Given the description of an element on the screen output the (x, y) to click on. 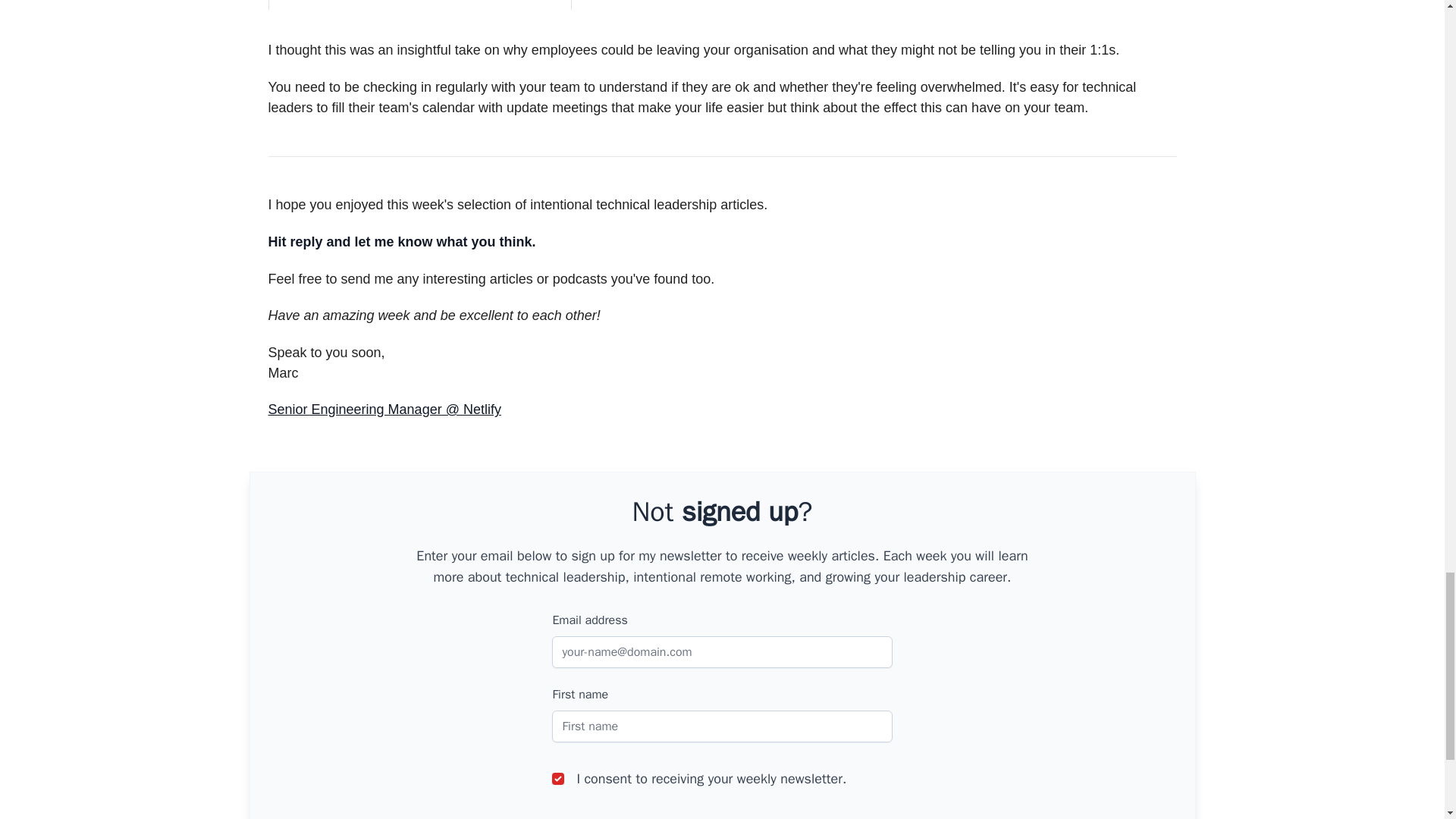
on (557, 778)
